Given the description of an element on the screen output the (x, y) to click on. 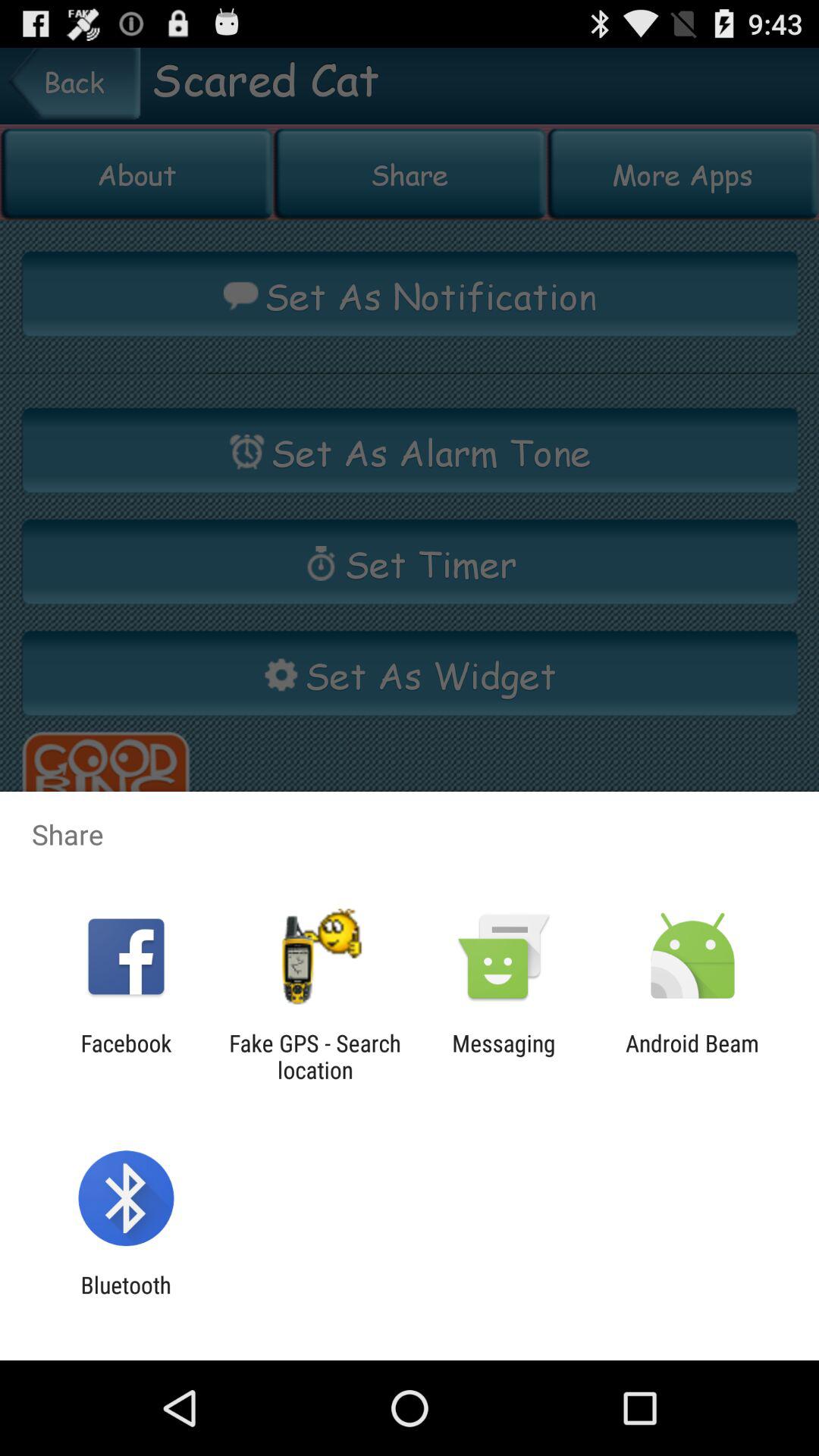
open android beam item (692, 1056)
